Given the description of an element on the screen output the (x, y) to click on. 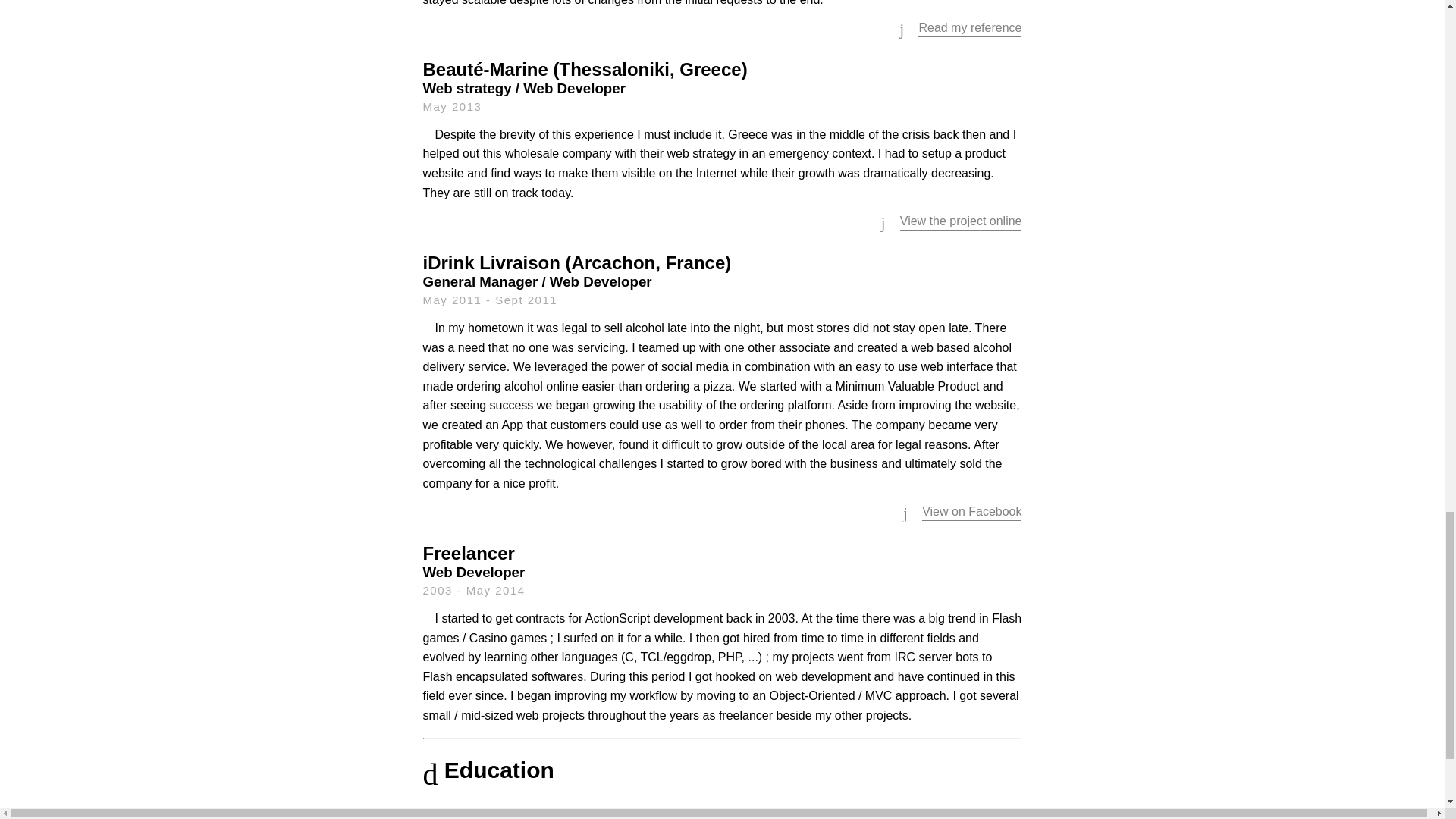
View on Facebook (971, 511)
Read my reference (970, 27)
View the project online (960, 220)
